Given the description of an element on the screen output the (x, y) to click on. 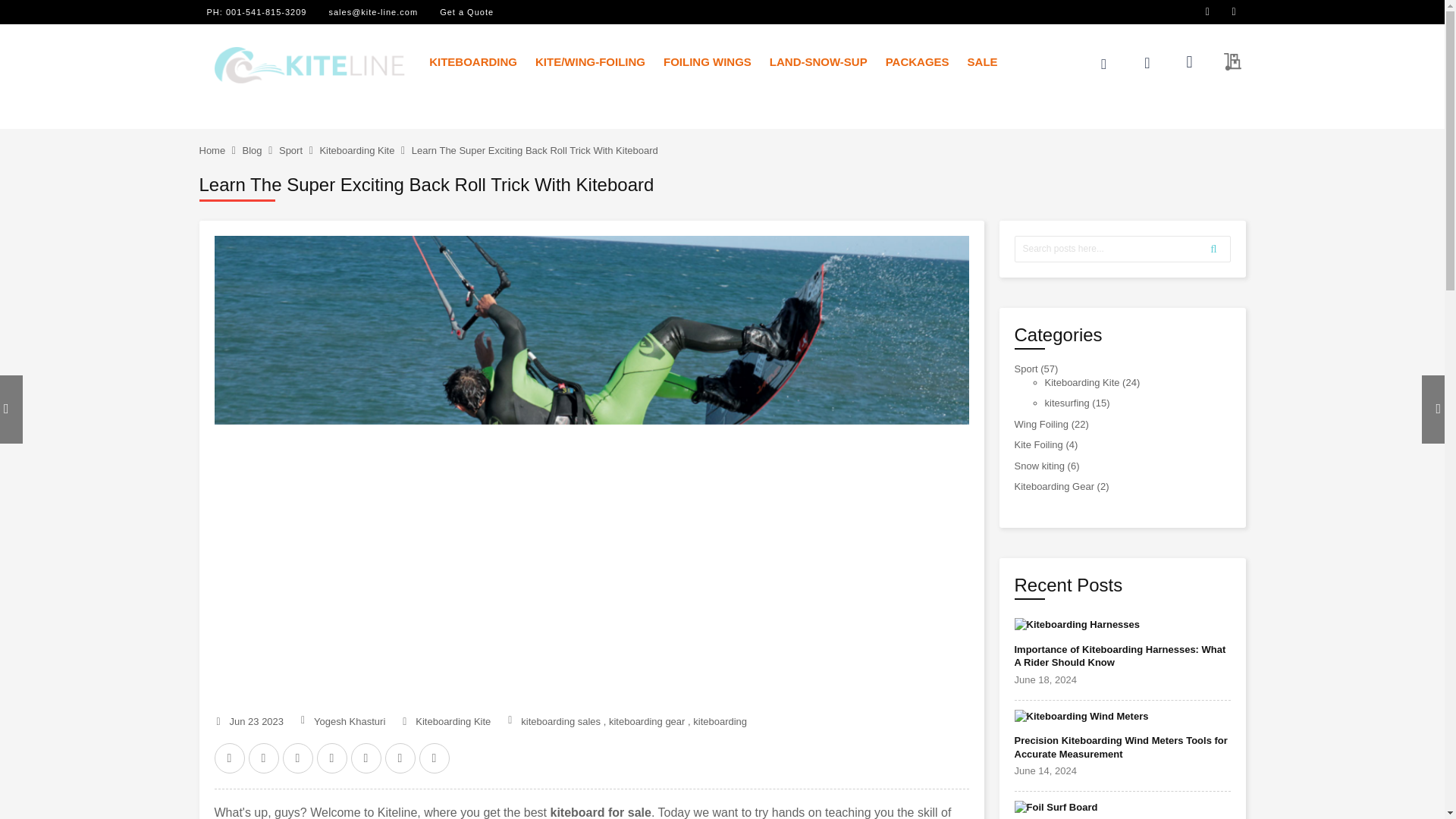
PH: 001-541-815-3209 (255, 11)
Kite-line (309, 64)
Blog (252, 150)
Yogesh Khasturi (349, 721)
LAND-SNOW-SUP (818, 61)
KITEBOARDING (472, 61)
Search (1213, 248)
kiteboarding (719, 721)
Kiteboarding Kite (356, 150)
